Given the description of an element on the screen output the (x, y) to click on. 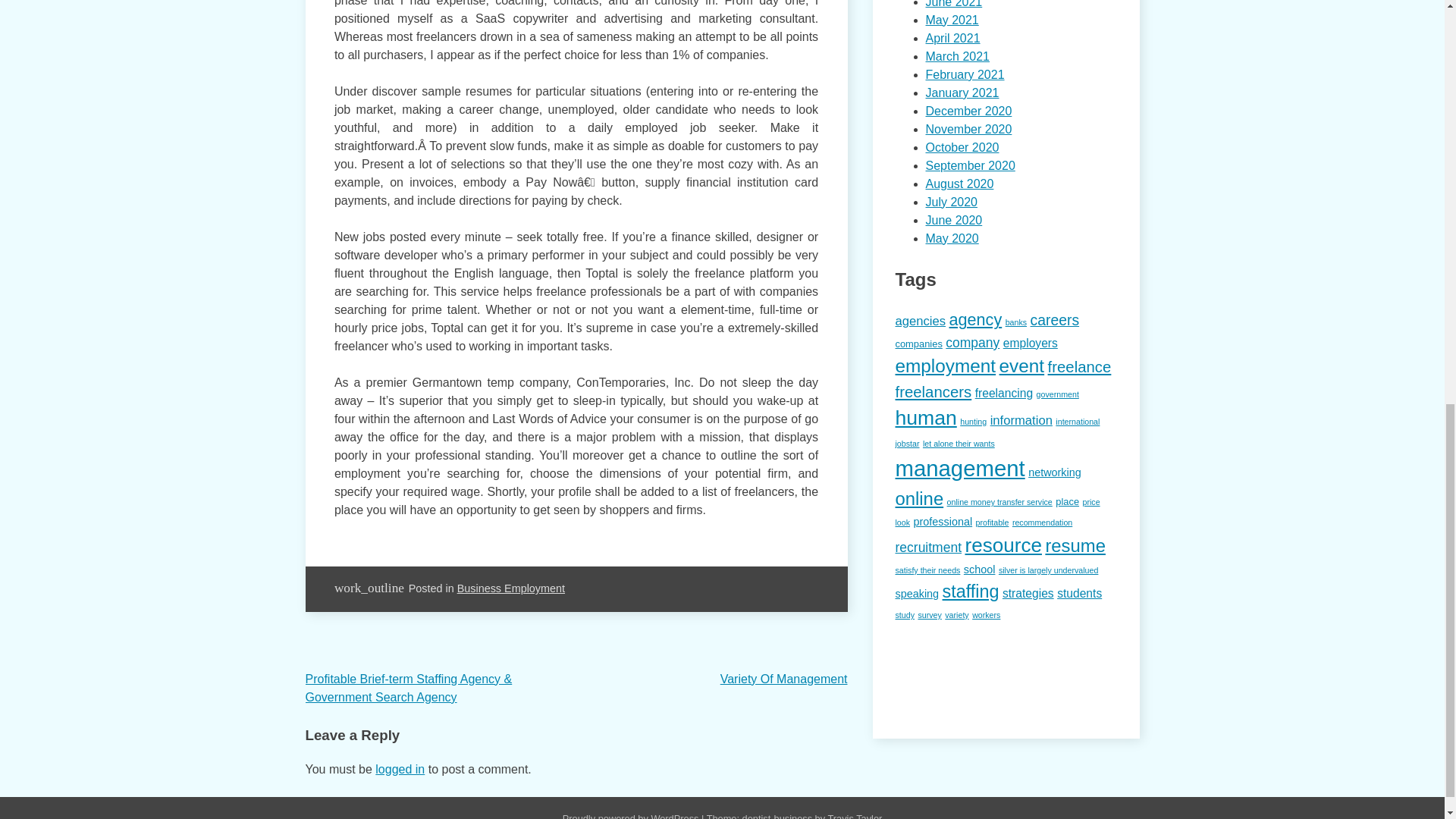
March 2021 (957, 56)
October 2020 (961, 146)
Business Employment (510, 588)
logged in (400, 768)
June 2021 (952, 4)
April 2021 (951, 38)
February 2021 (964, 74)
Variety Of Management (783, 678)
January 2021 (961, 92)
December 2020 (967, 110)
May 2021 (951, 19)
November 2020 (967, 128)
